Given the description of an element on the screen output the (x, y) to click on. 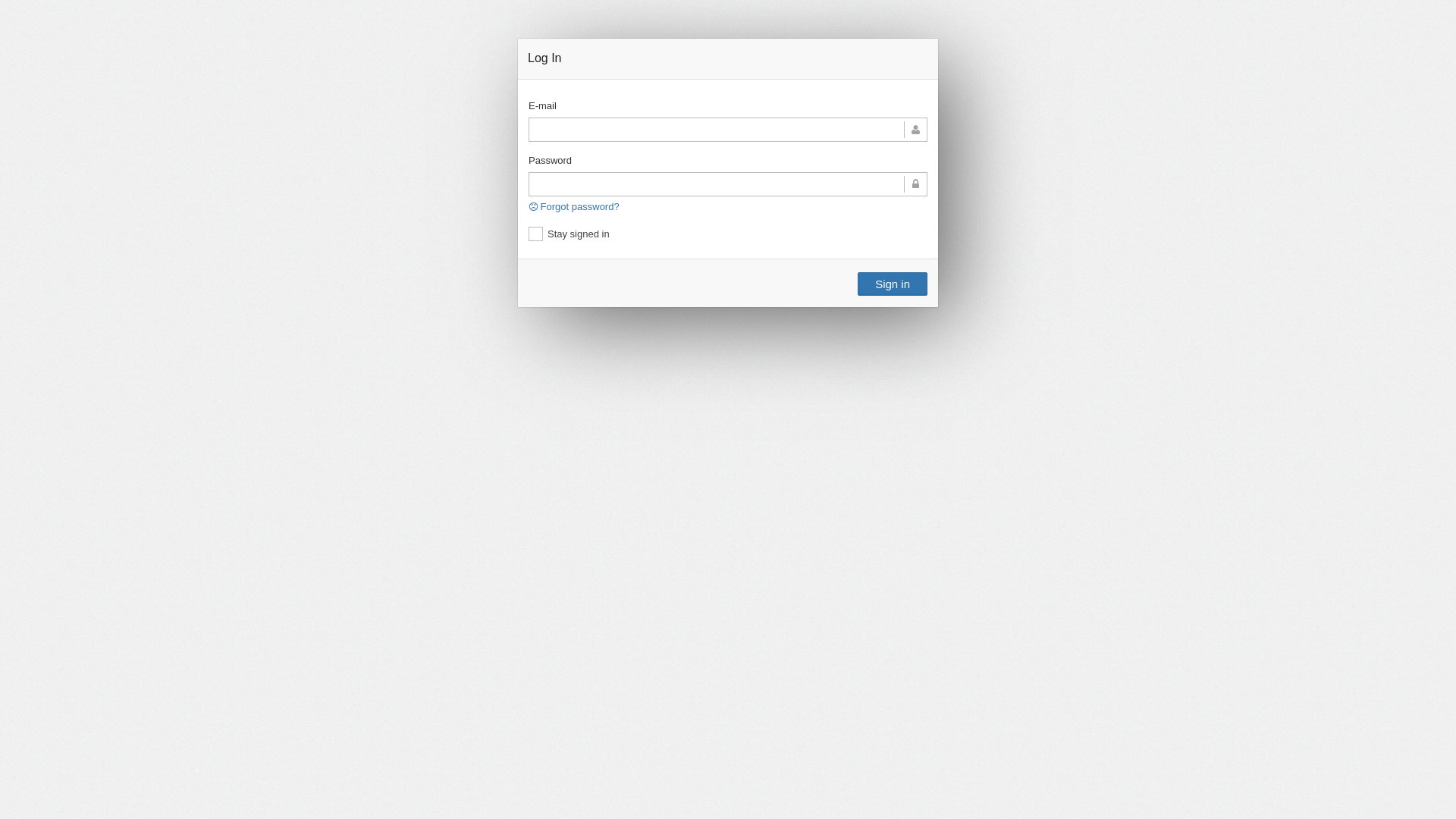
Sign in Element type: text (892, 283)
Forgot password? Element type: text (574, 206)
